Given the description of an element on the screen output the (x, y) to click on. 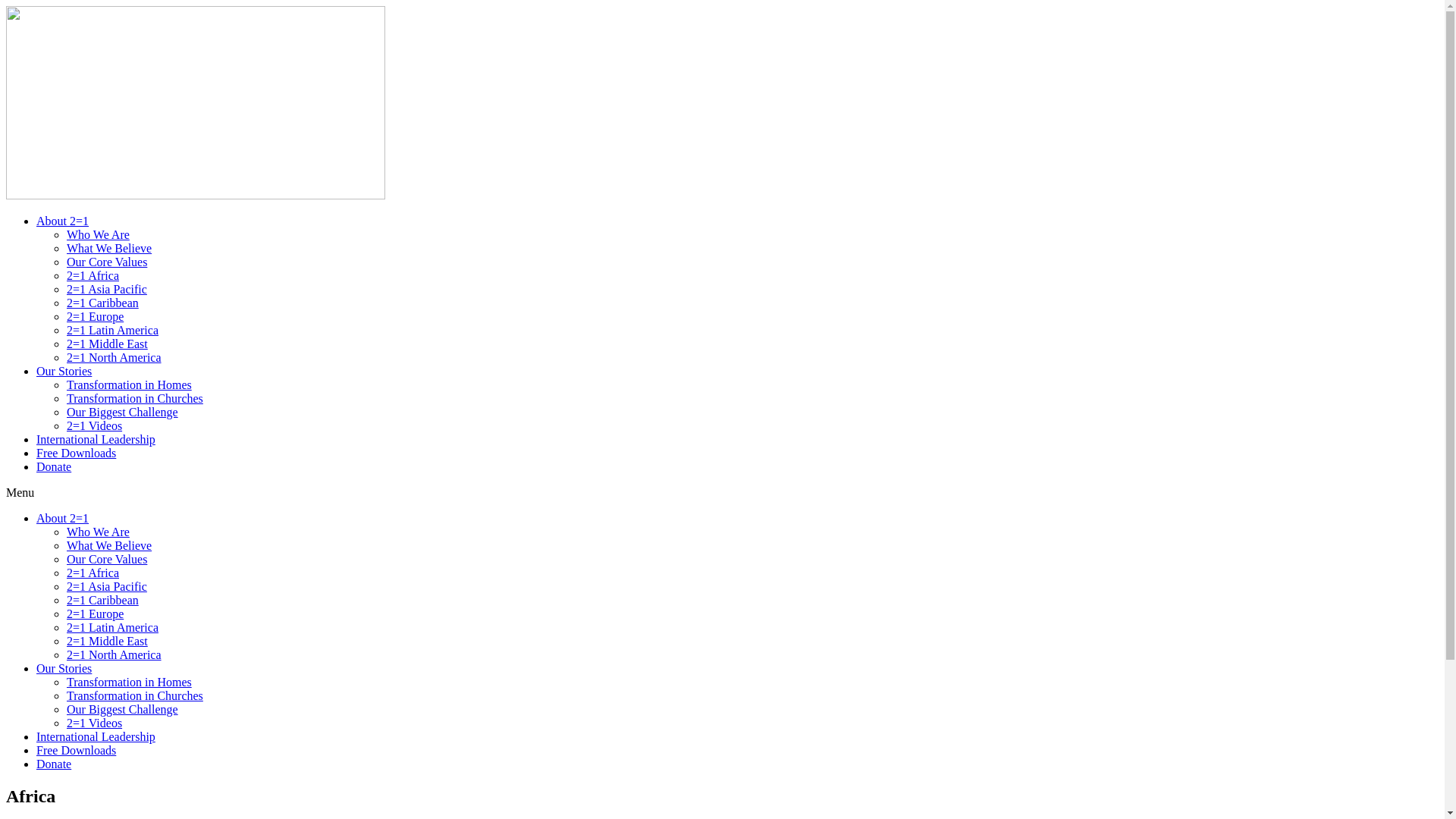
2=1 Latin America Element type: text (112, 627)
Transformation in Homes Element type: text (128, 384)
Transformation in Churches Element type: text (134, 398)
Who We Are Element type: text (97, 531)
Transformation in Churches Element type: text (134, 695)
2=1 Middle East Element type: text (106, 343)
What We Believe Element type: text (108, 545)
Free Downloads Element type: text (76, 749)
2=1 Asia Pacific Element type: text (106, 586)
Donate Element type: text (53, 466)
Our Core Values Element type: text (106, 558)
International Leadership Element type: text (95, 736)
2=1 Middle East Element type: text (106, 640)
2=1 Europe Element type: text (94, 316)
2=1 Caribbean Element type: text (102, 302)
About 2=1 Element type: text (62, 220)
Who We Are Element type: text (97, 234)
Our Stories Element type: text (63, 370)
2=1 Caribbean Element type: text (102, 599)
Donate Element type: text (53, 763)
2=1 Videos Element type: text (94, 722)
What We Believe Element type: text (108, 247)
2=1 Asia Pacific Element type: text (106, 288)
2=1 North America Element type: text (113, 357)
Free Downloads Element type: text (76, 452)
2=1 Latin America Element type: text (112, 329)
2=1 Europe Element type: text (94, 613)
2=1 Videos Element type: text (94, 425)
2=1 Africa Element type: text (92, 572)
Our Stories Element type: text (63, 668)
2=1 Africa Element type: text (92, 275)
Our Biggest Challenge Element type: text (122, 708)
International Leadership Element type: text (95, 439)
Our Core Values Element type: text (106, 261)
Transformation in Homes Element type: text (128, 681)
About 2=1 Element type: text (62, 517)
2=1 North America Element type: text (113, 654)
Our Biggest Challenge Element type: text (122, 411)
